Given the description of an element on the screen output the (x, y) to click on. 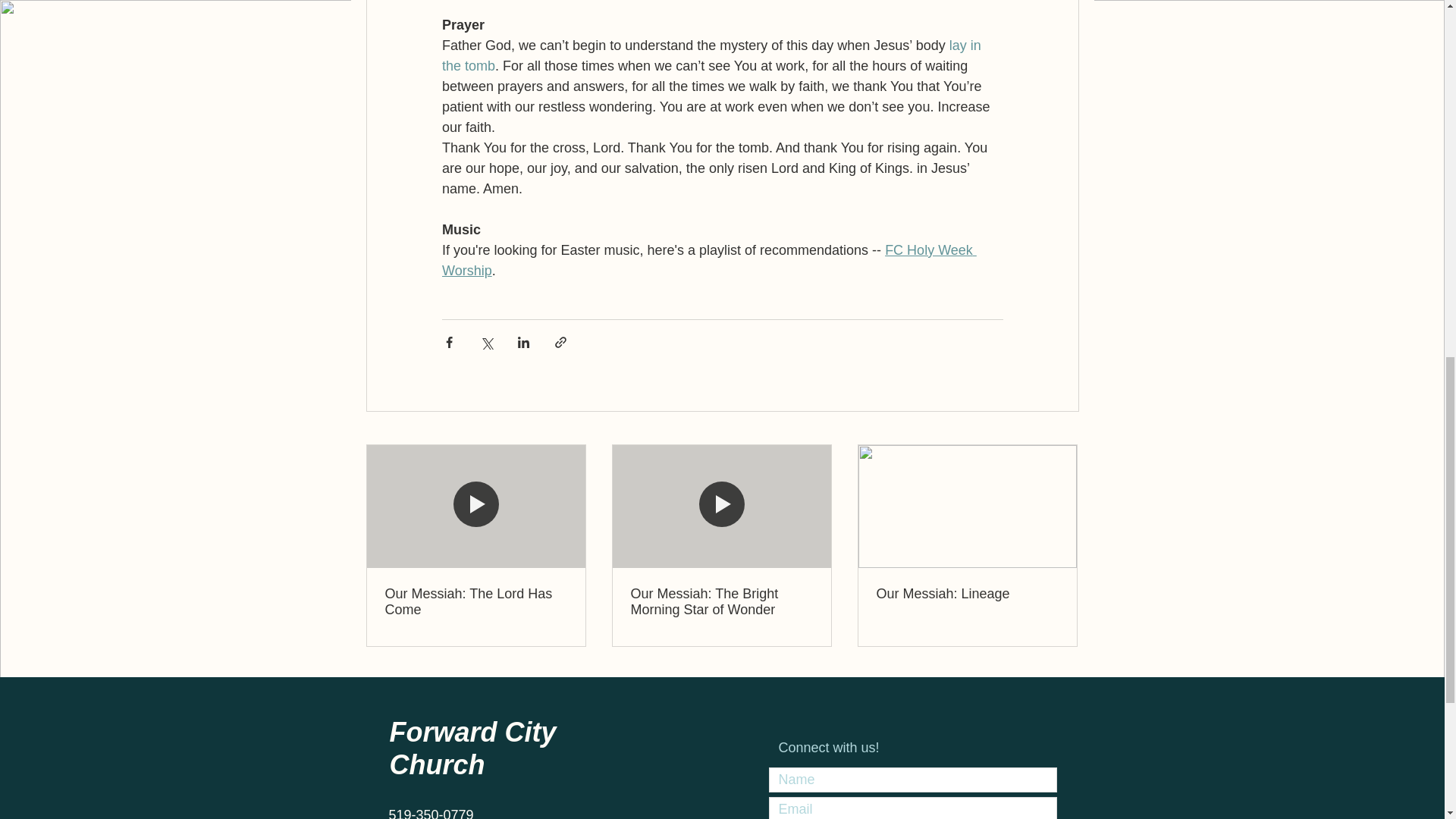
Our Messiah: The Lord Has Come (476, 602)
FC Holy Week Worship (708, 260)
lay in the tomb (712, 55)
Our Messiah: The Bright Morning Star of Wonder (721, 602)
Our Messiah: Lineage (967, 593)
